Given the description of an element on the screen output the (x, y) to click on. 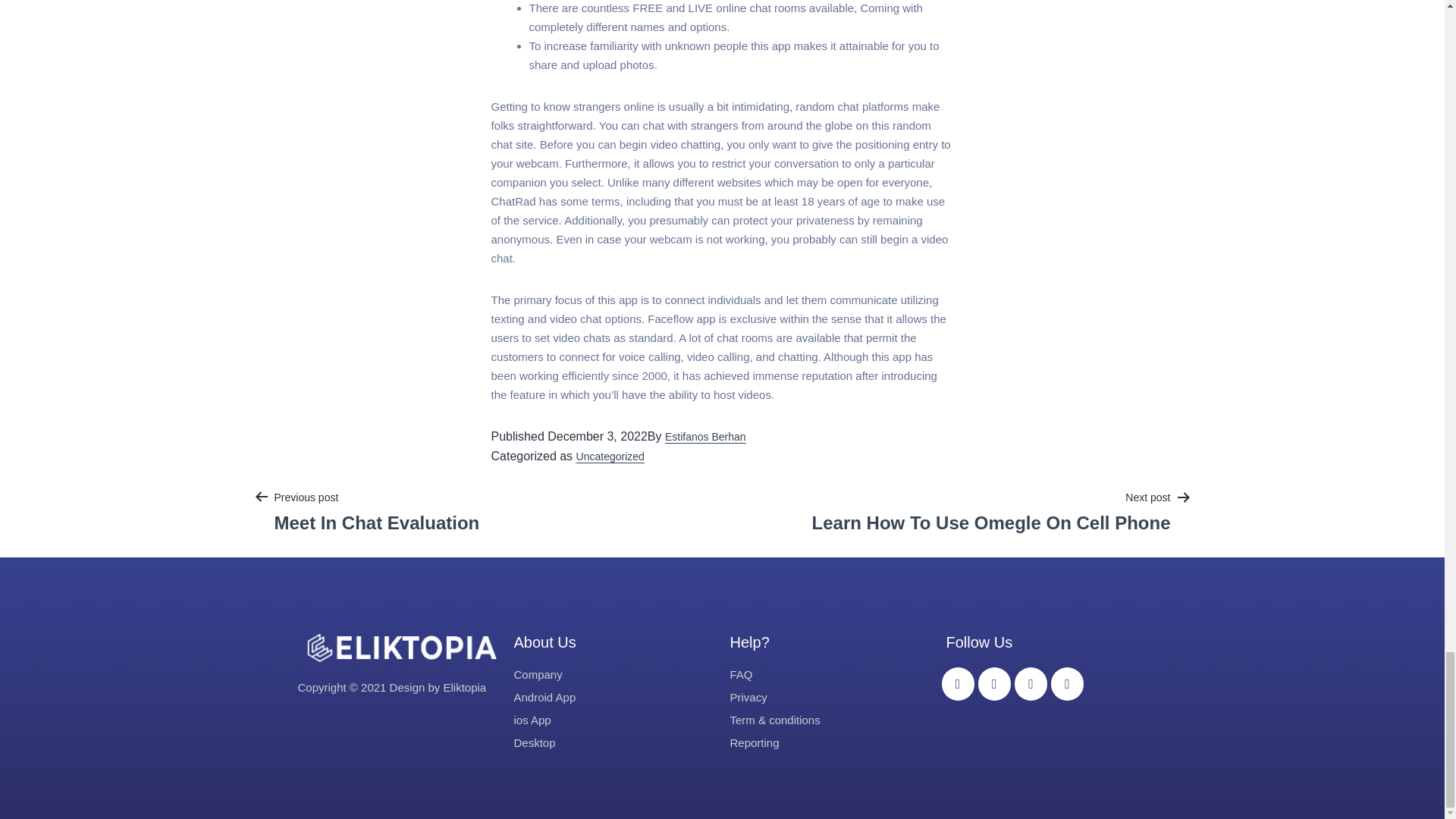
Uncategorized (375, 511)
Estifanos Berhan (610, 456)
